Given the description of an element on the screen output the (x, y) to click on. 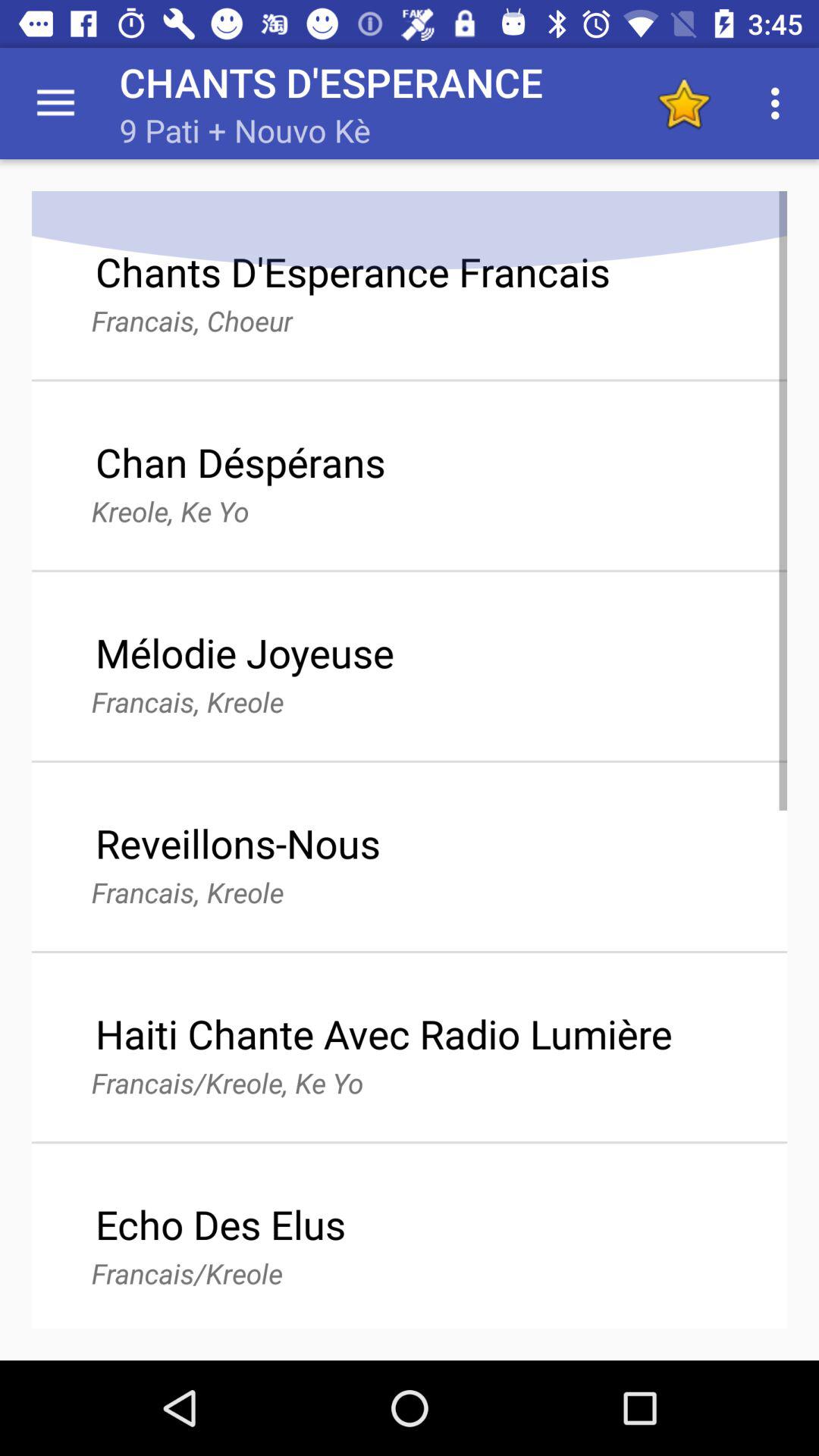
tap item above chants d esperance (55, 103)
